Given the description of an element on the screen output the (x, y) to click on. 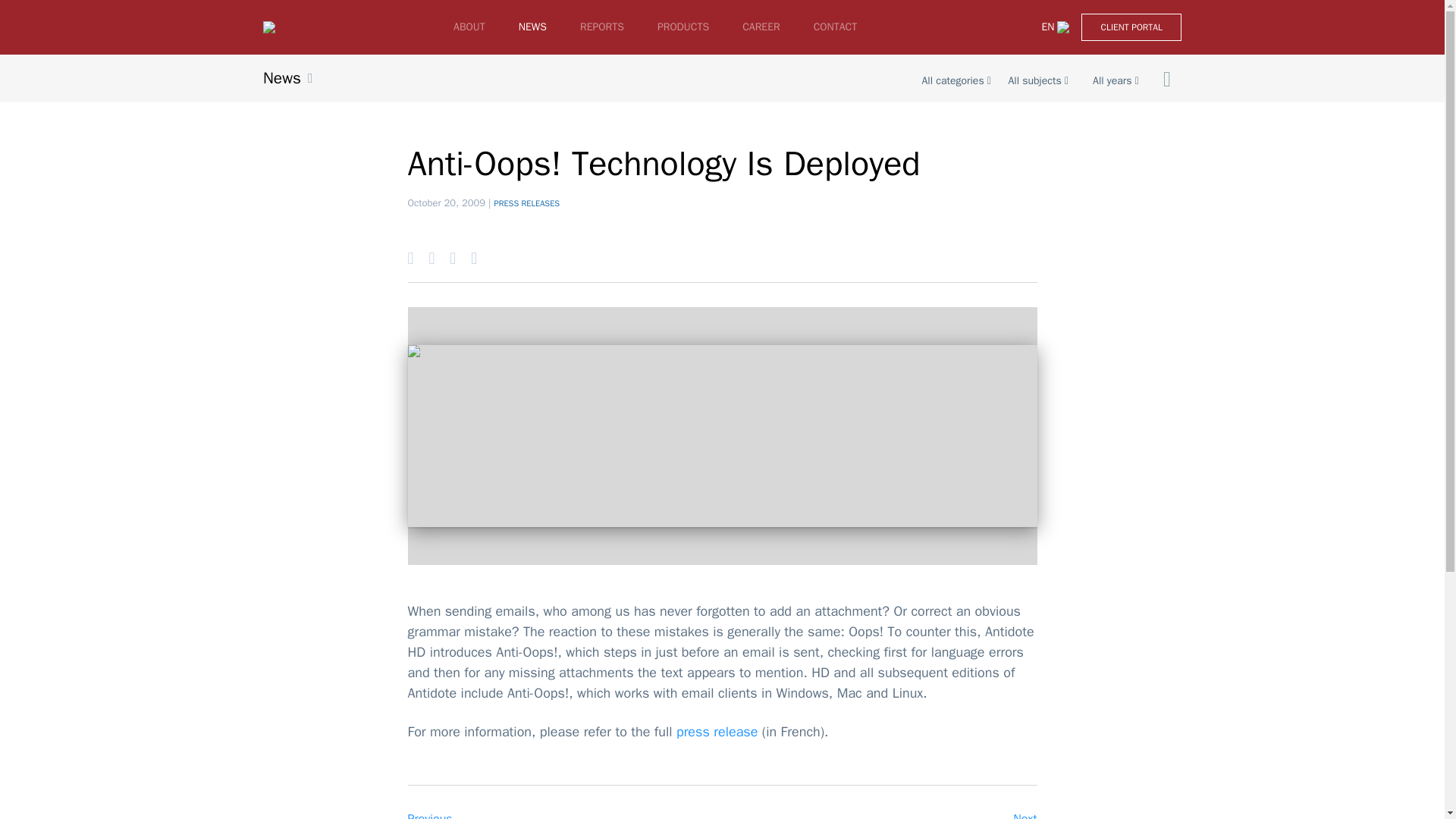
ABOUT (469, 26)
PRODUCTS (682, 26)
All years (1116, 80)
EN (1054, 27)
CONTACT (835, 26)
News (282, 77)
NEWS (532, 26)
REPORTS (601, 26)
CAREER (761, 26)
All categories (956, 80)
All subjects (1037, 80)
CLIENT PORTAL (1130, 25)
